Given the description of an element on the screen output the (x, y) to click on. 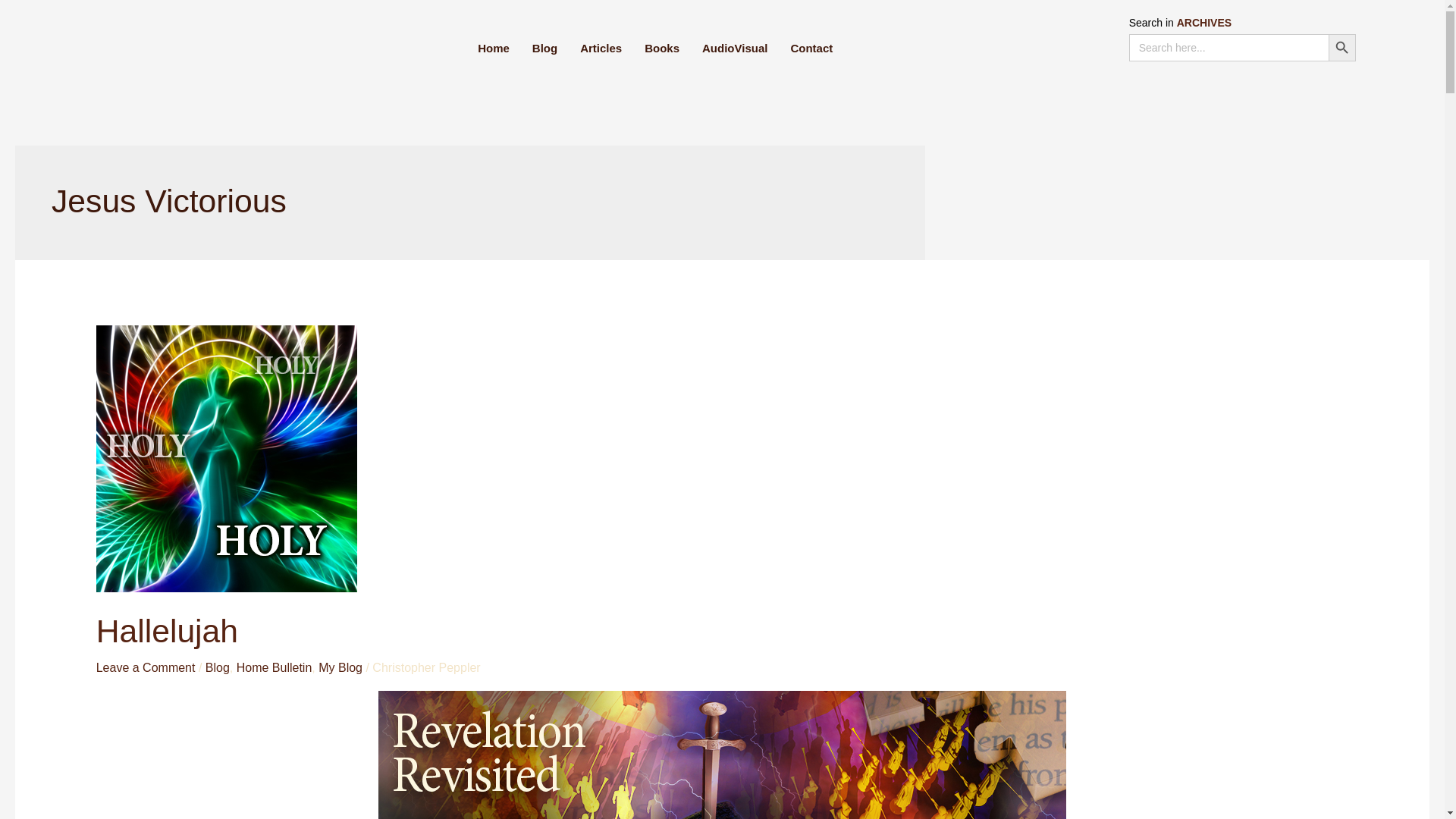
Search Button (1341, 47)
Books (661, 48)
Home (493, 48)
Home Bulletin (274, 667)
View all posts by Christopher Peppler (426, 667)
Christopher Peppler (426, 667)
My Blog (340, 667)
ARCHIVES (1203, 22)
AudioVisual (734, 48)
Leave a Comment (145, 667)
Contact (811, 48)
Hallelujah (167, 630)
Articles (601, 48)
Blog (217, 667)
